Given the description of an element on the screen output the (x, y) to click on. 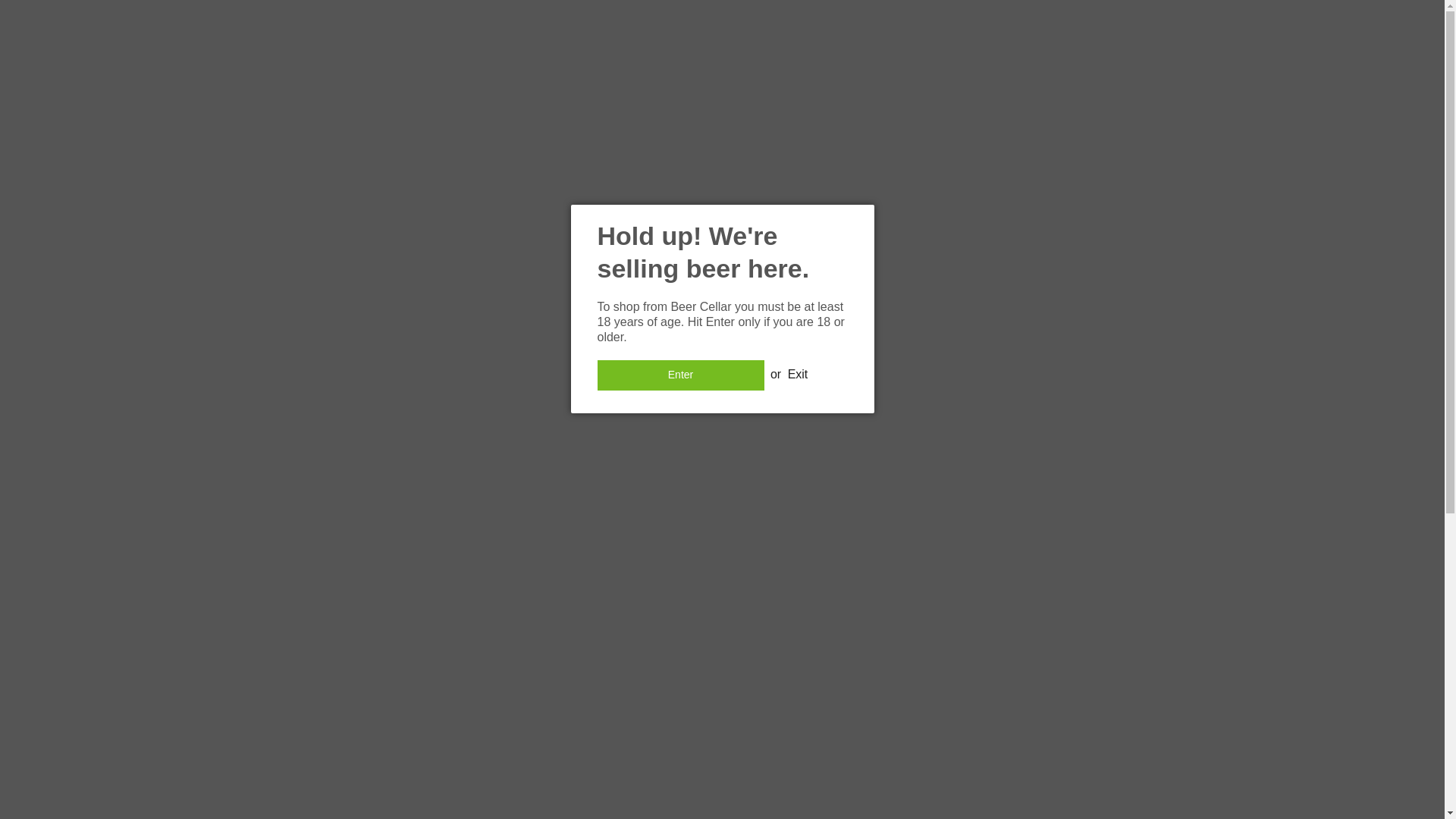
Cart (1280, 14)
Sold Out (941, 480)
0 (941, 434)
